Given the description of an element on the screen output the (x, y) to click on. 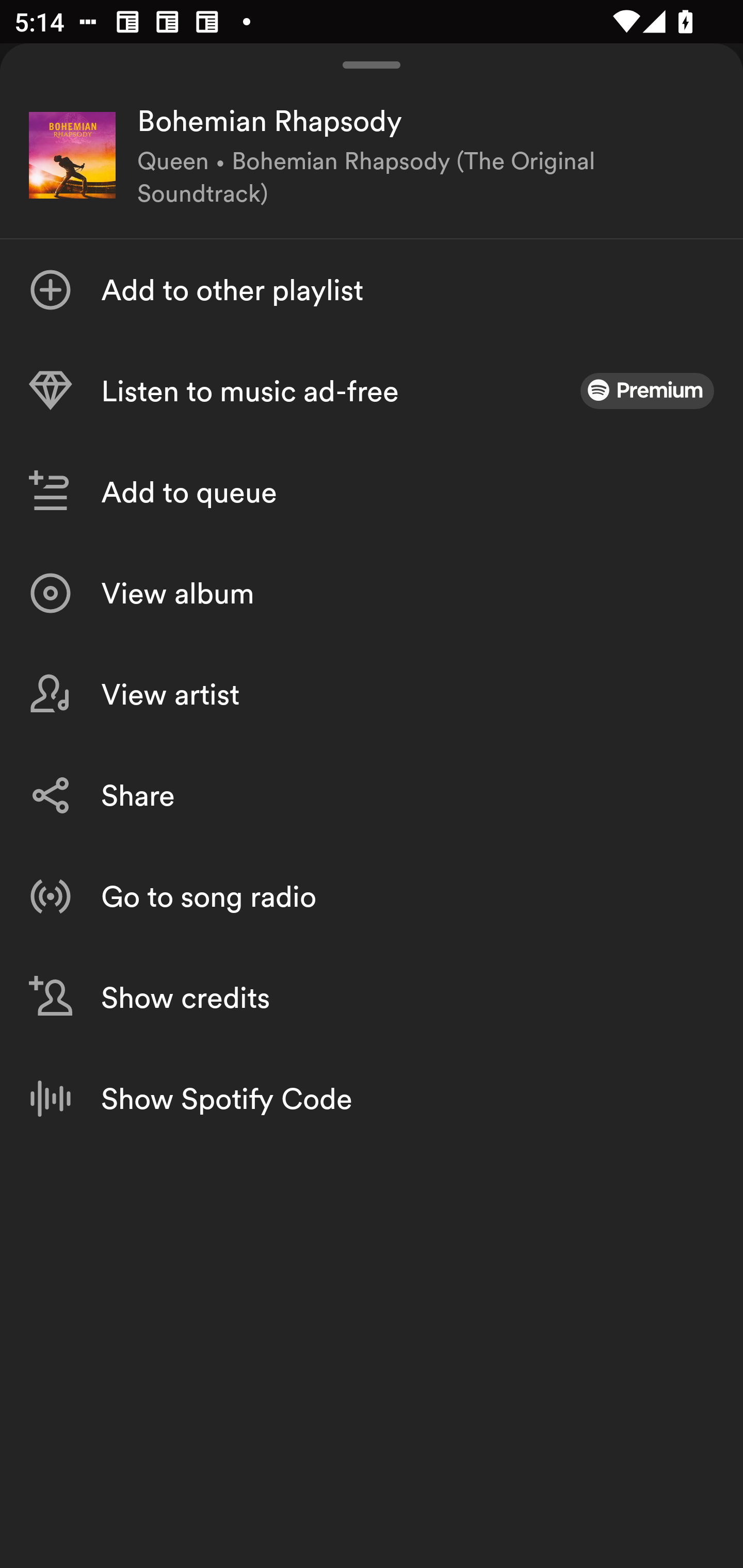
Add to other playlist (371, 289)
Listen to music ad-free (371, 391)
Add to queue (371, 492)
View album (371, 593)
View artist (371, 694)
Share (371, 794)
Go to song radio (371, 896)
Show credits (371, 997)
Show Spotify Code (371, 1098)
